Given the description of an element on the screen output the (x, y) to click on. 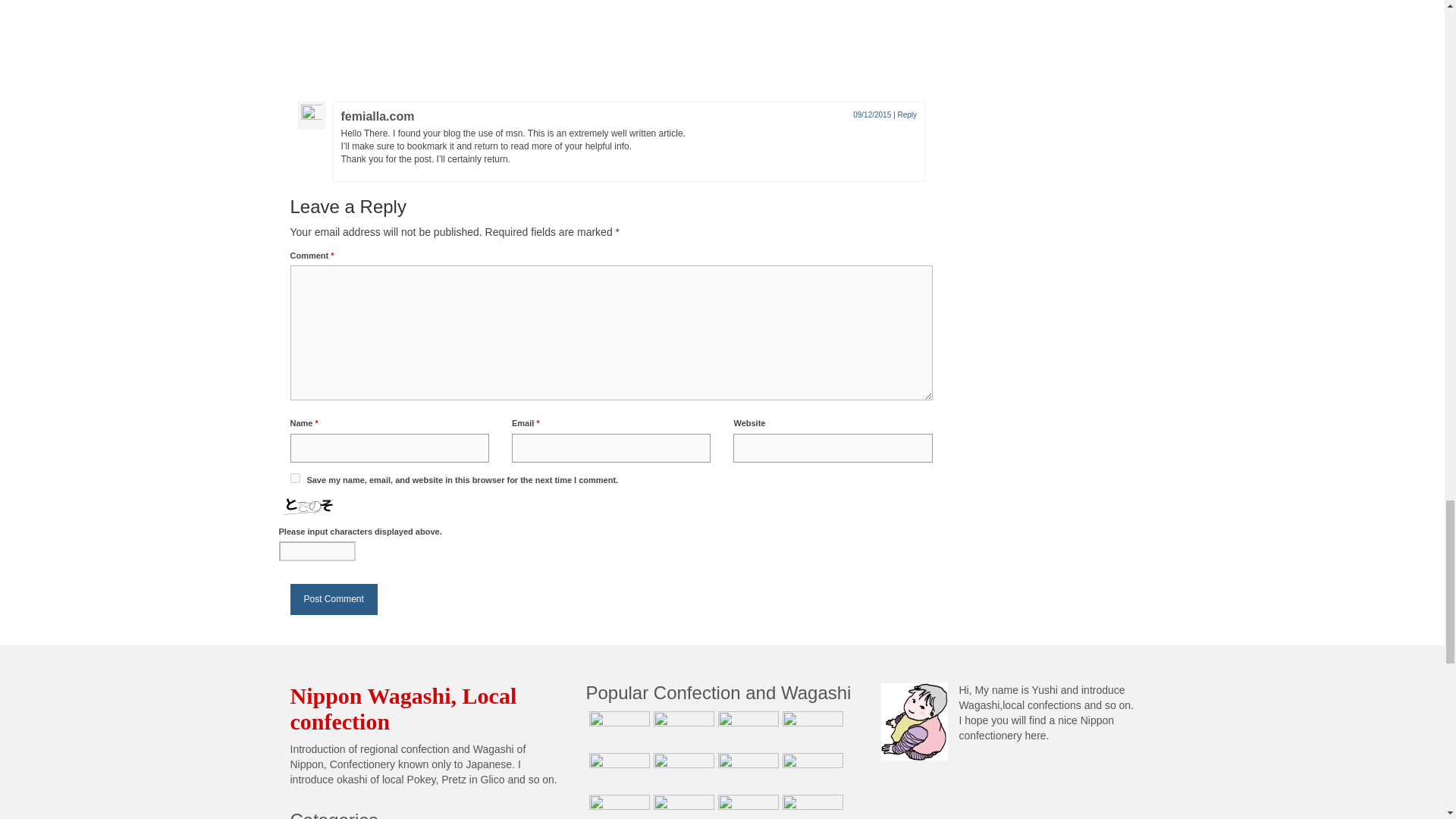
Post Comment (333, 599)
yes (294, 478)
Post Comment (333, 599)
Reply (906, 114)
